Given the description of an element on the screen output the (x, y) to click on. 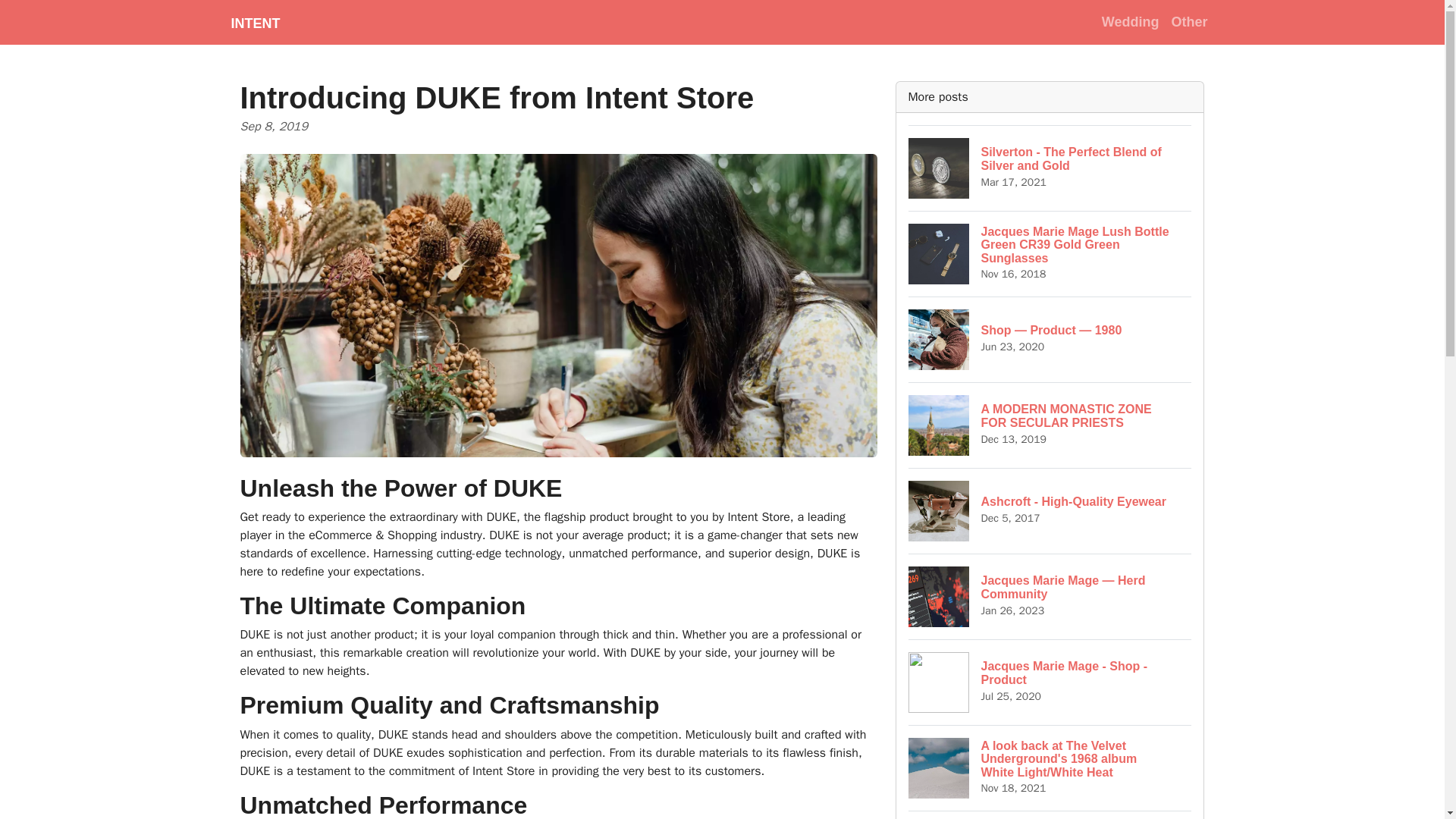
INTENT (254, 22)
Wedding (1050, 681)
Other (1050, 510)
